Given the description of an element on the screen output the (x, y) to click on. 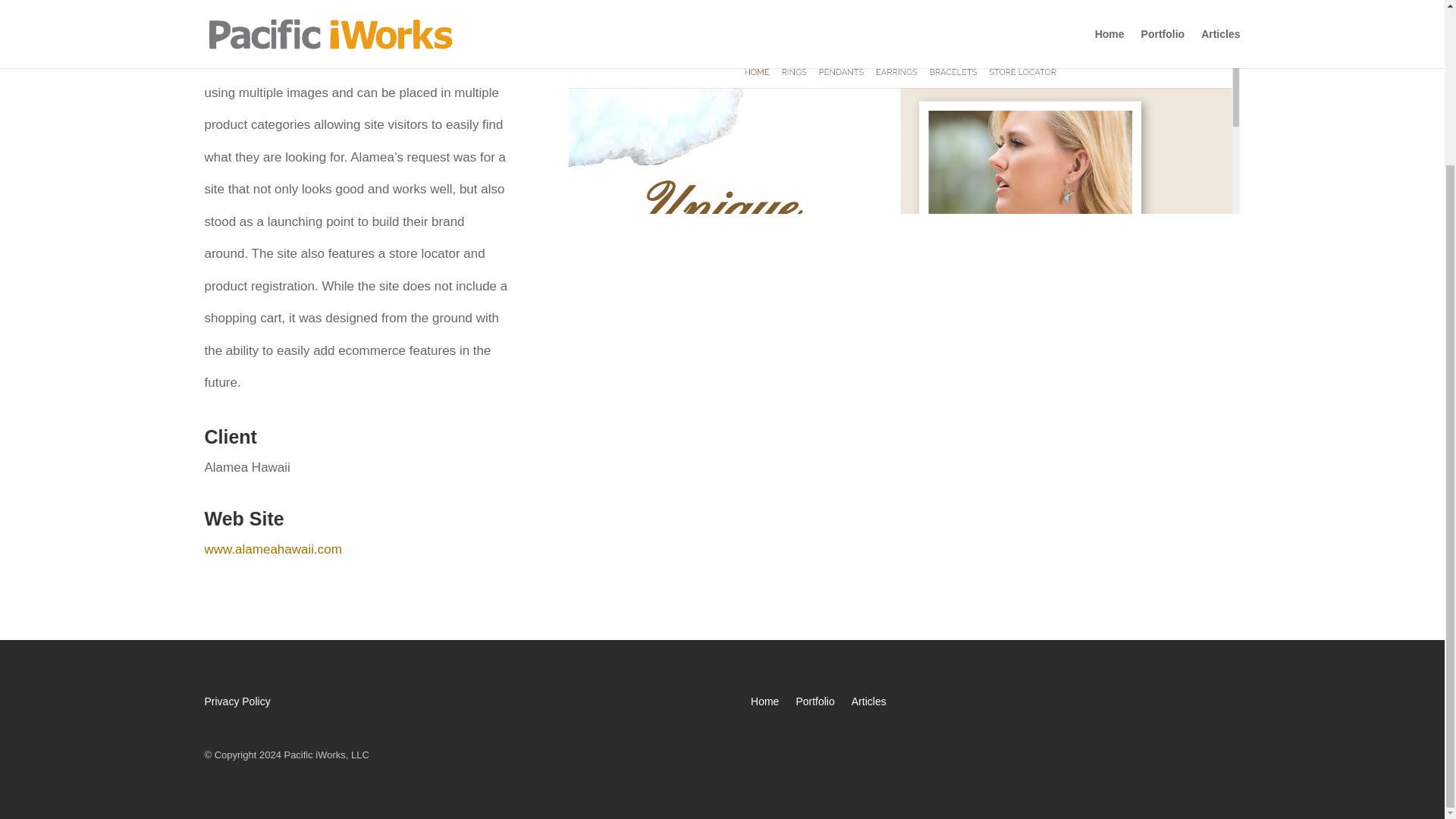
Articles (868, 704)
Portfolio (814, 704)
www.alameahawaii.com (273, 549)
Alamea Hawaii (904, 480)
Privacy Policy (237, 704)
Web Site (244, 518)
Home (764, 704)
